Given the description of an element on the screen output the (x, y) to click on. 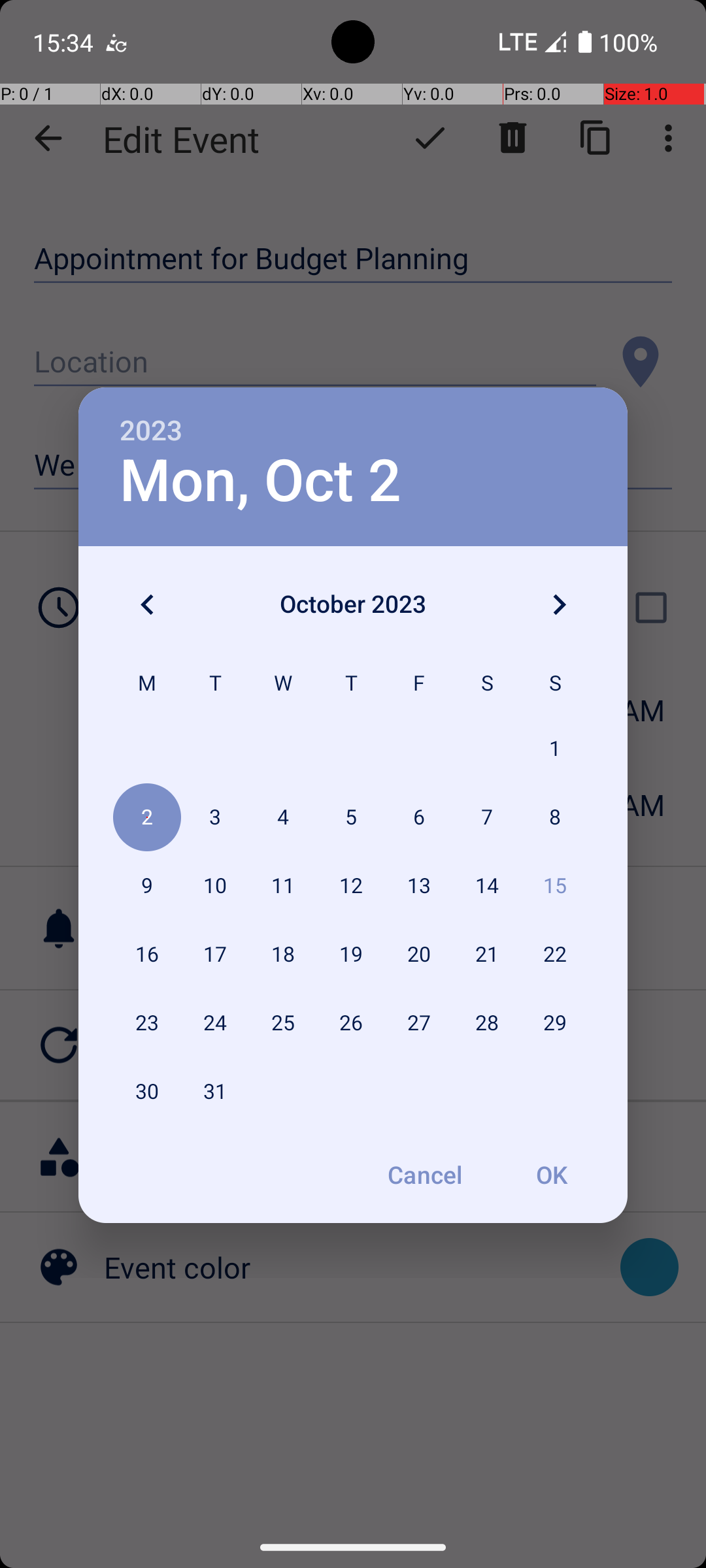
Mon, Oct 2 Element type: android.widget.TextView (260, 480)
